Given the description of an element on the screen output the (x, y) to click on. 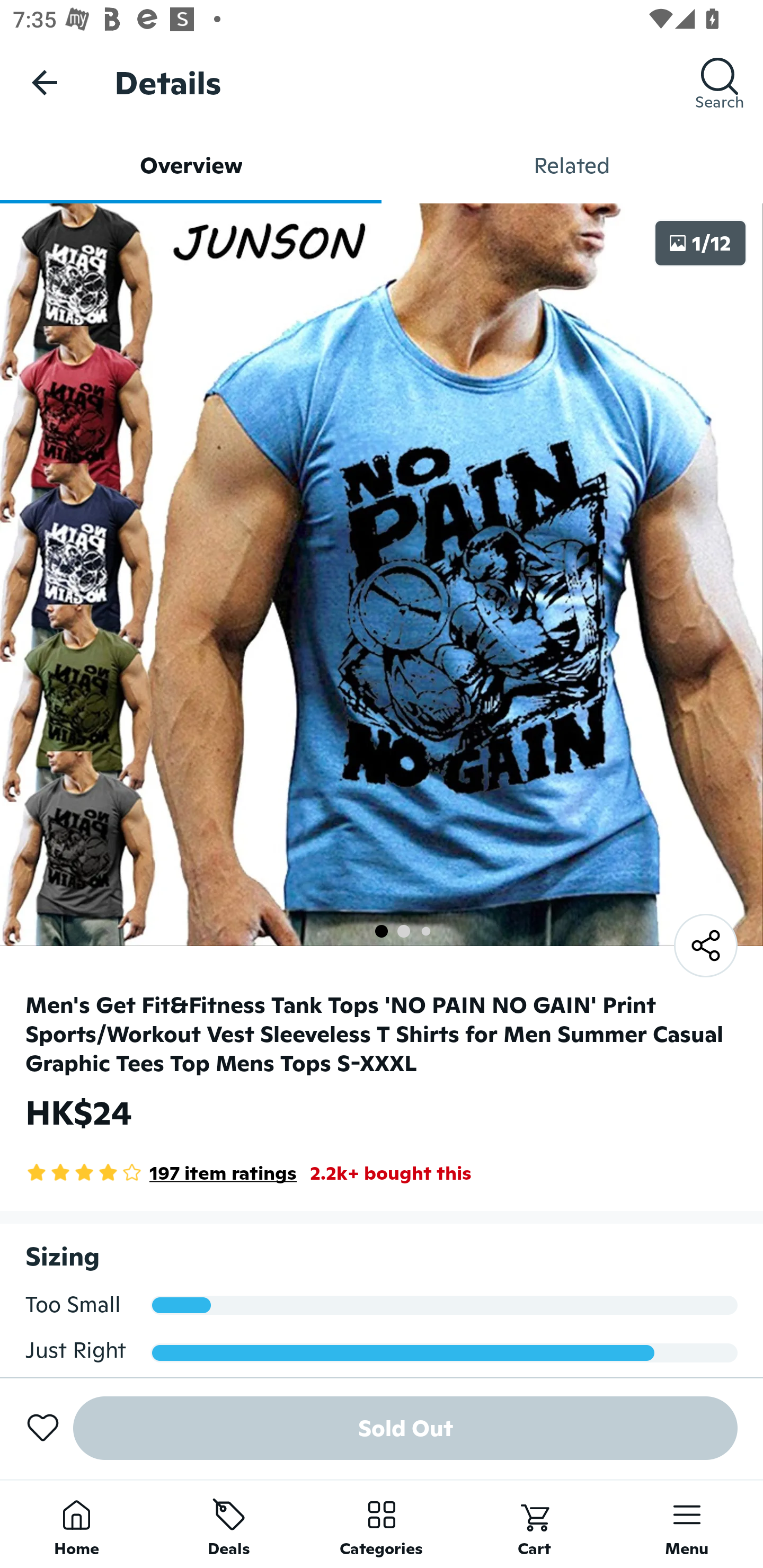
Navigate up (44, 82)
Search (719, 82)
Related (572, 165)
1/12 (700, 242)
4.2 Star Rating 197 item ratings (161, 1172)
Sold Out (405, 1428)
Home (76, 1523)
Deals (228, 1523)
Categories (381, 1523)
Cart (533, 1523)
Menu (686, 1523)
